Given the description of an element on the screen output the (x, y) to click on. 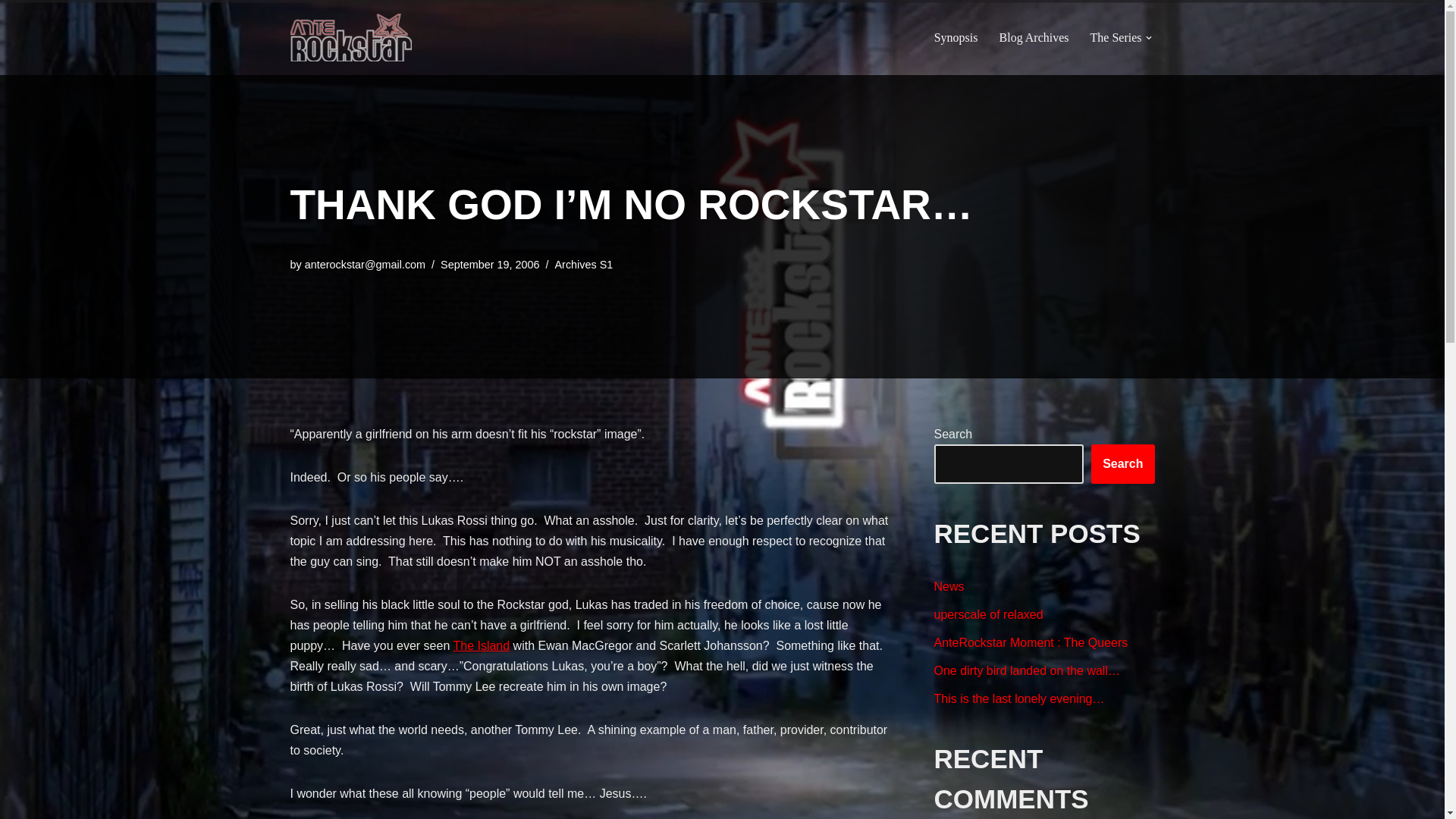
Blog Archives (1033, 37)
Archives S1 (583, 264)
The Series (1115, 37)
Skip to content (11, 31)
The Island (480, 645)
Search (1122, 464)
News (948, 585)
Synopsis (956, 37)
AnteRockstar Moment : The Queers (1031, 642)
uperscale of relaxed (988, 614)
